Given the description of an element on the screen output the (x, y) to click on. 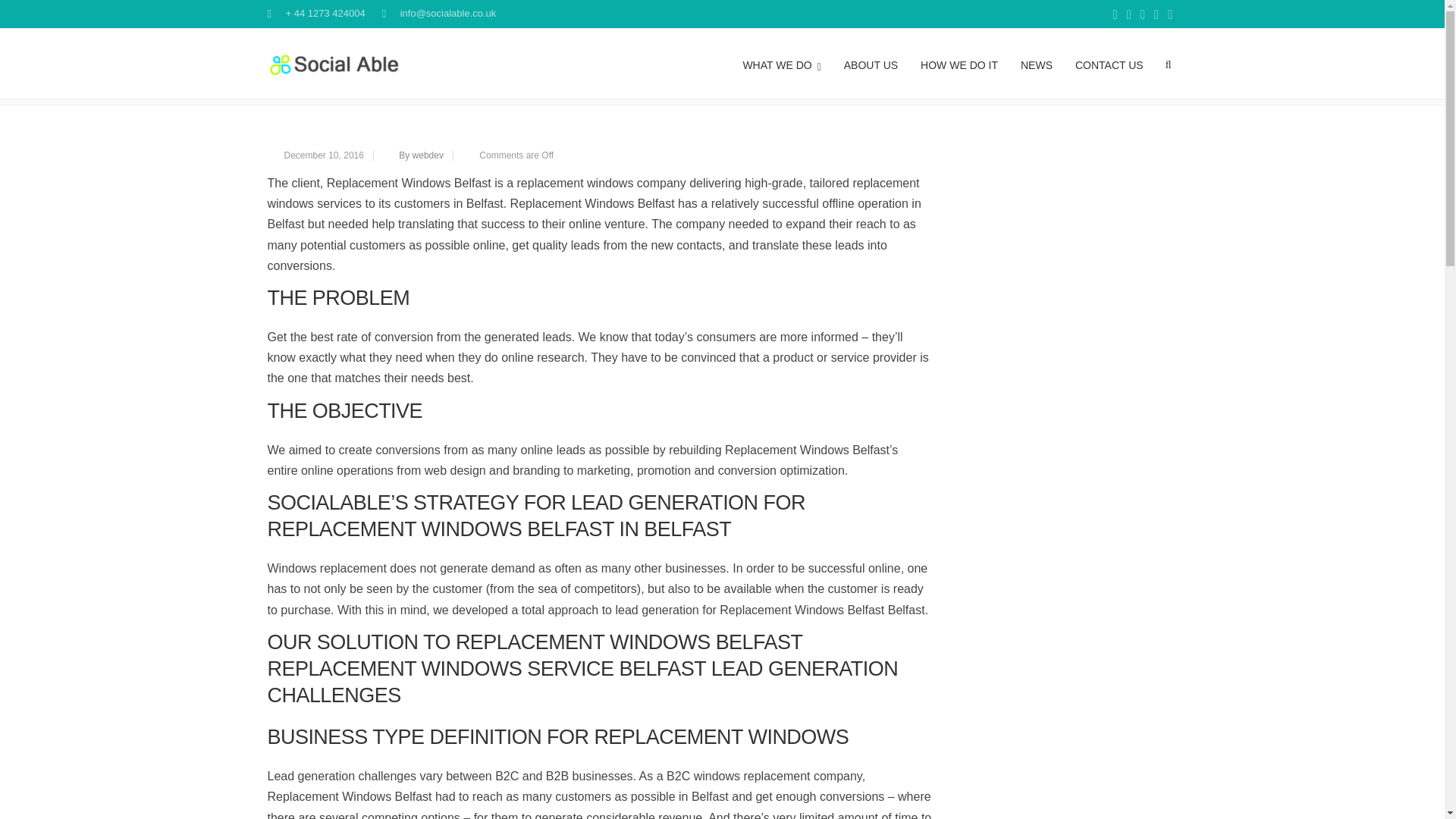
Instagram (1169, 15)
WHAT WE DO (780, 63)
LinkedIn (1156, 15)
Twitter (1142, 15)
Facebook (1114, 15)
HOW WE DO IT (958, 63)
Skype (1128, 15)
CONTACT US (1109, 63)
ABOUT US (870, 63)
